Given the description of an element on the screen output the (x, y) to click on. 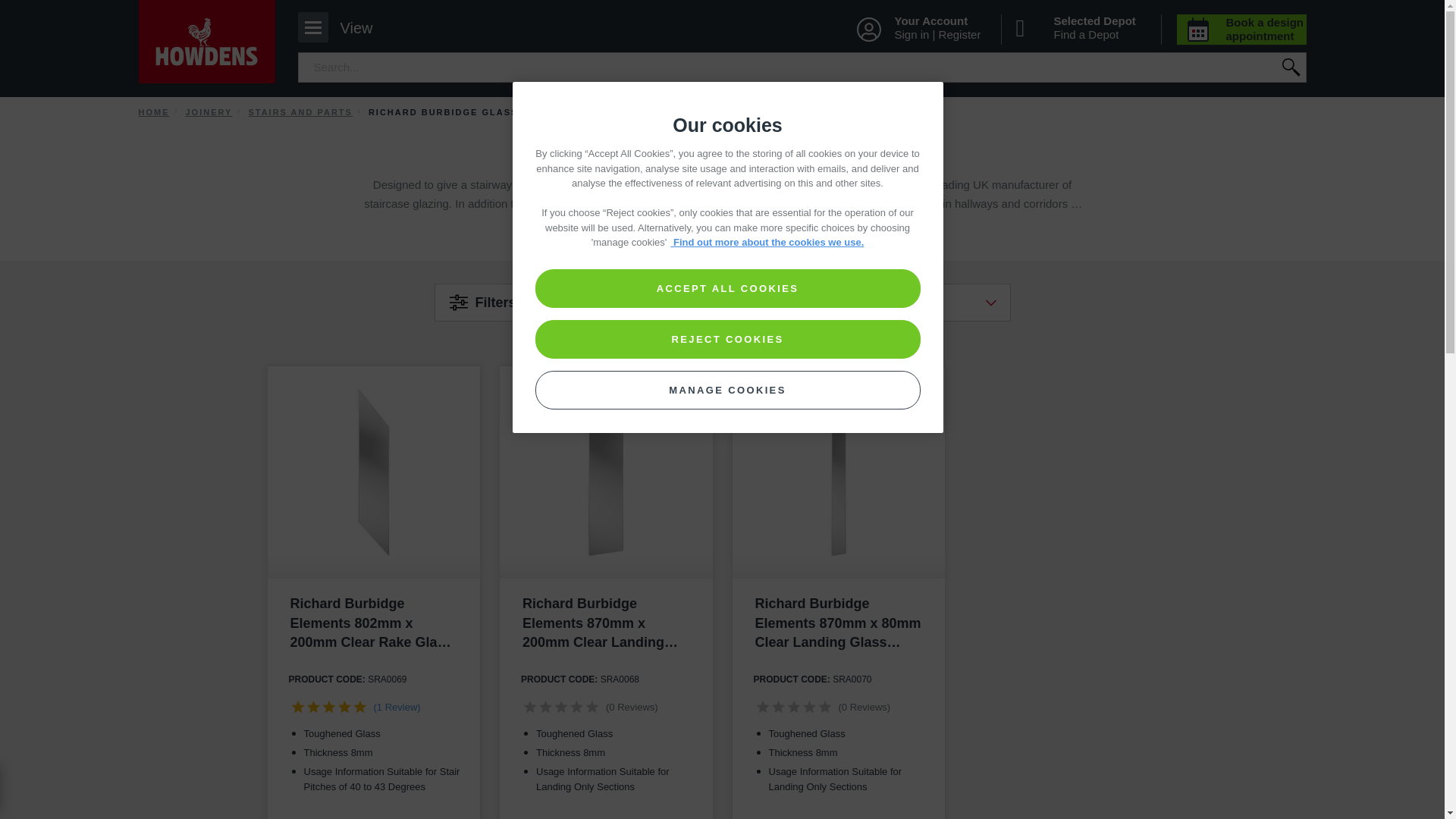
STAIRS AND PARTS (299, 112)
View (342, 27)
Home (153, 112)
Book a design appointment (1242, 29)
Bestselling (900, 302)
Search (1289, 67)
HOME (577, 302)
Home (153, 112)
Read More (206, 41)
Navigation (721, 228)
Joinery (342, 27)
Read More (207, 112)
Stairs and Parts (721, 228)
JOINERY (299, 112)
